Given the description of an element on the screen output the (x, y) to click on. 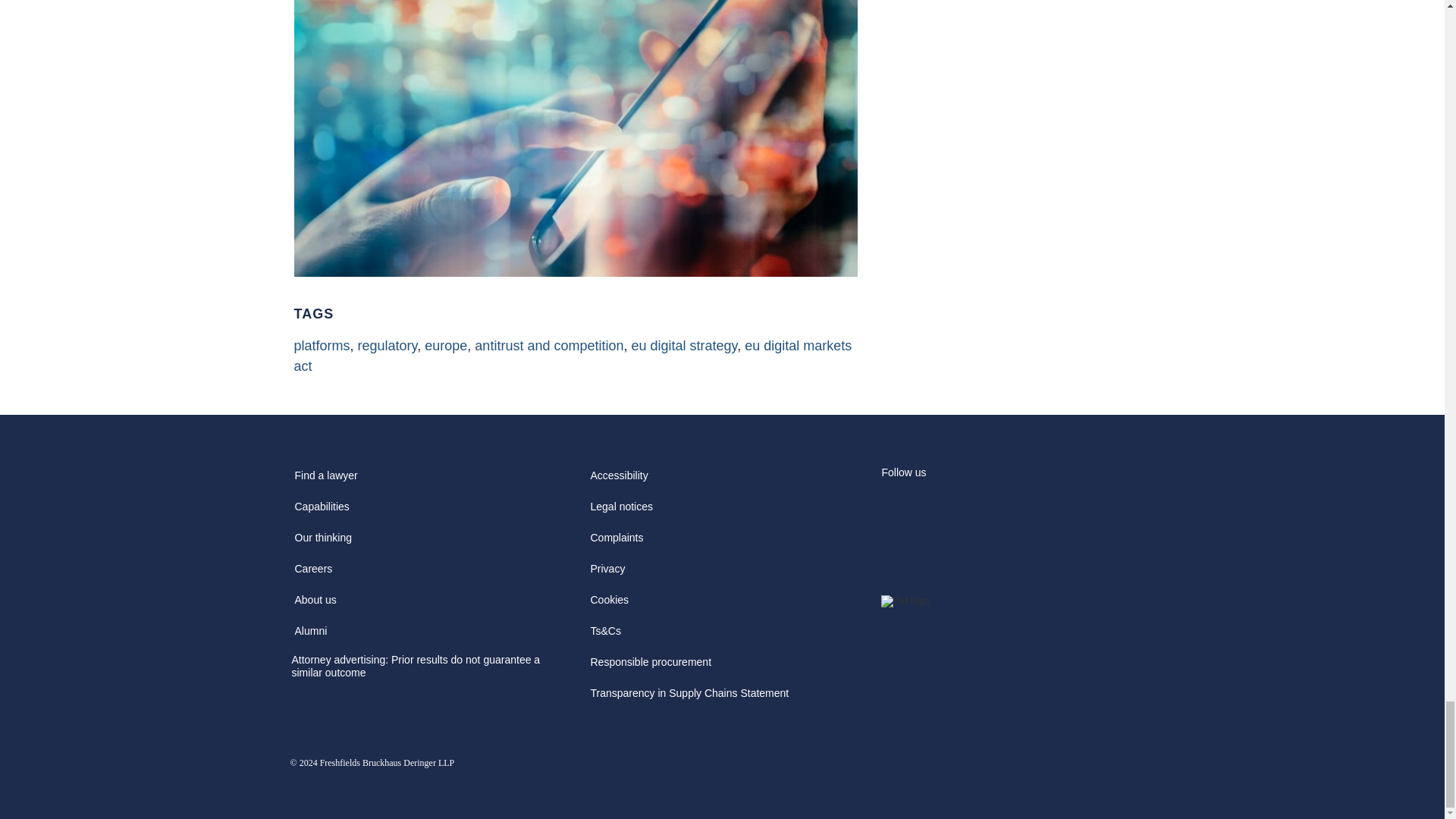
Alumni (310, 635)
Cookies (608, 604)
Our thinking (322, 542)
Find a lawyer (325, 480)
Legal notices (621, 511)
Privacy (606, 573)
Responsible procurement (650, 666)
Transparency in Supply Chains Statement (689, 698)
Accessibility (618, 480)
Capabilities (321, 511)
About us (315, 604)
Careers (312, 573)
Complaints (616, 542)
